Given the description of an element on the screen output the (x, y) to click on. 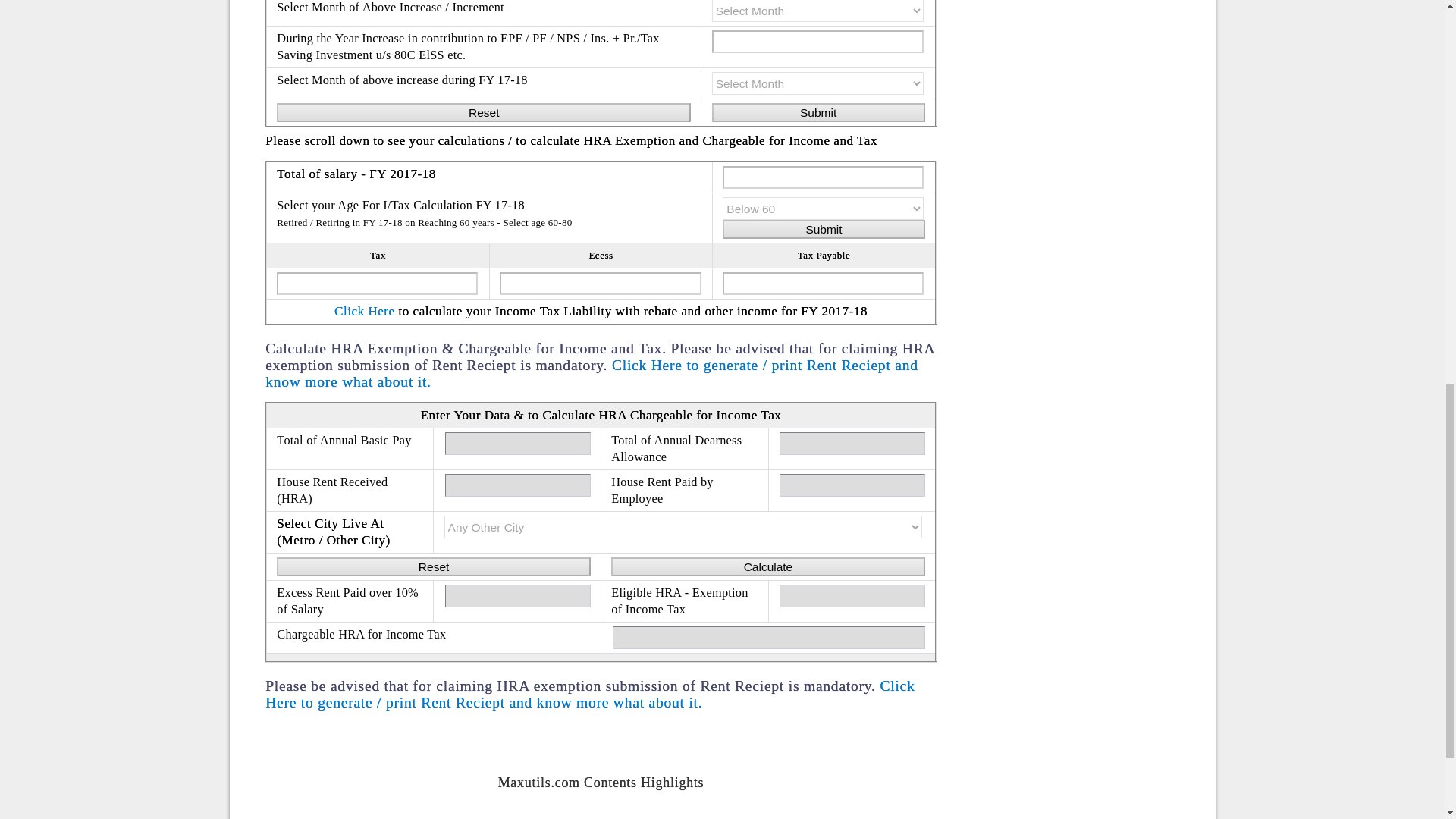
Submit (817, 112)
Calculate (767, 566)
Click Here (364, 310)
Submit (823, 229)
Reset (483, 112)
Reset (432, 566)
